Given the description of an element on the screen output the (x, y) to click on. 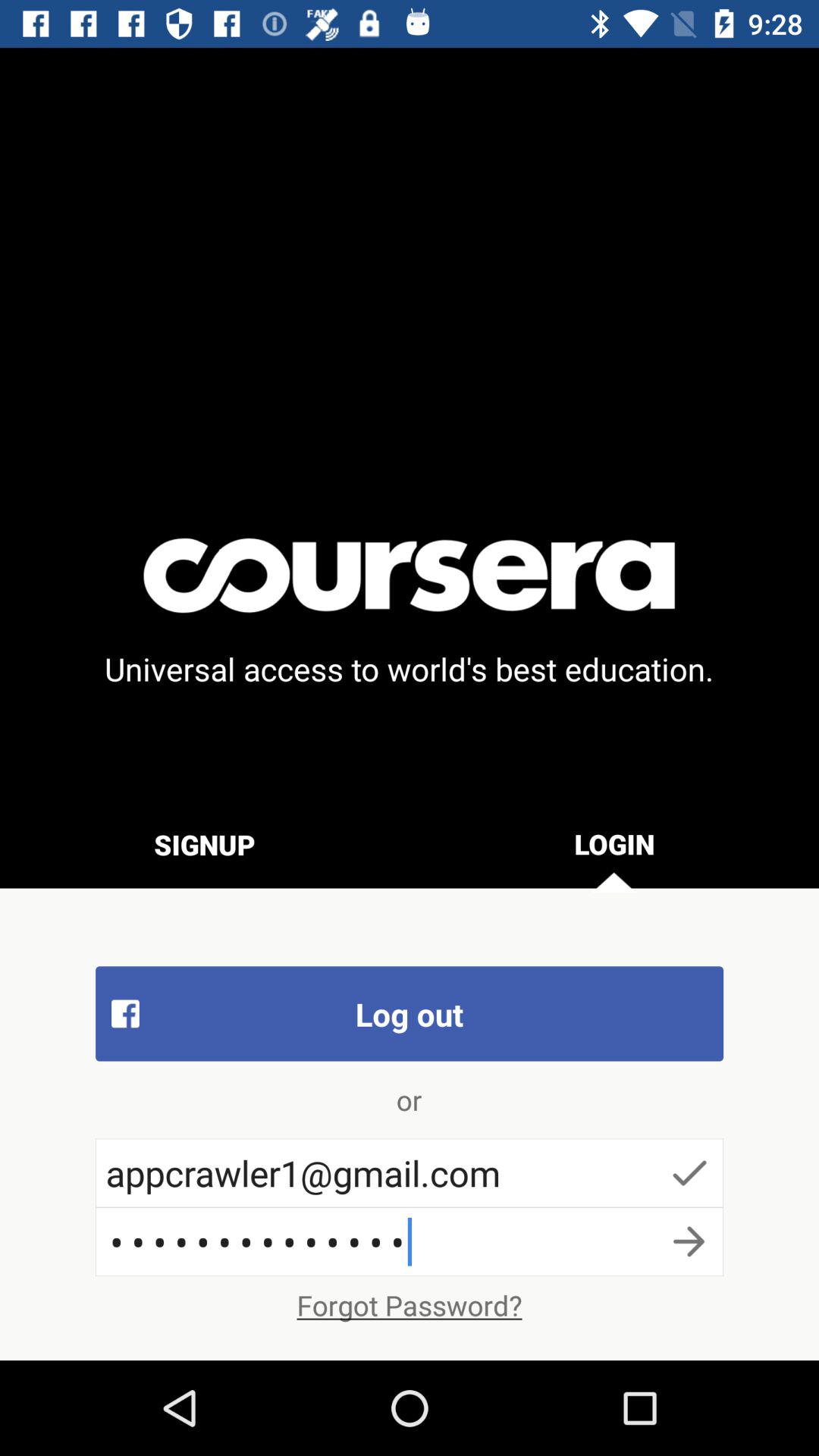
open the item below appcrawler1@gmail.com (409, 1241)
